Given the description of an element on the screen output the (x, y) to click on. 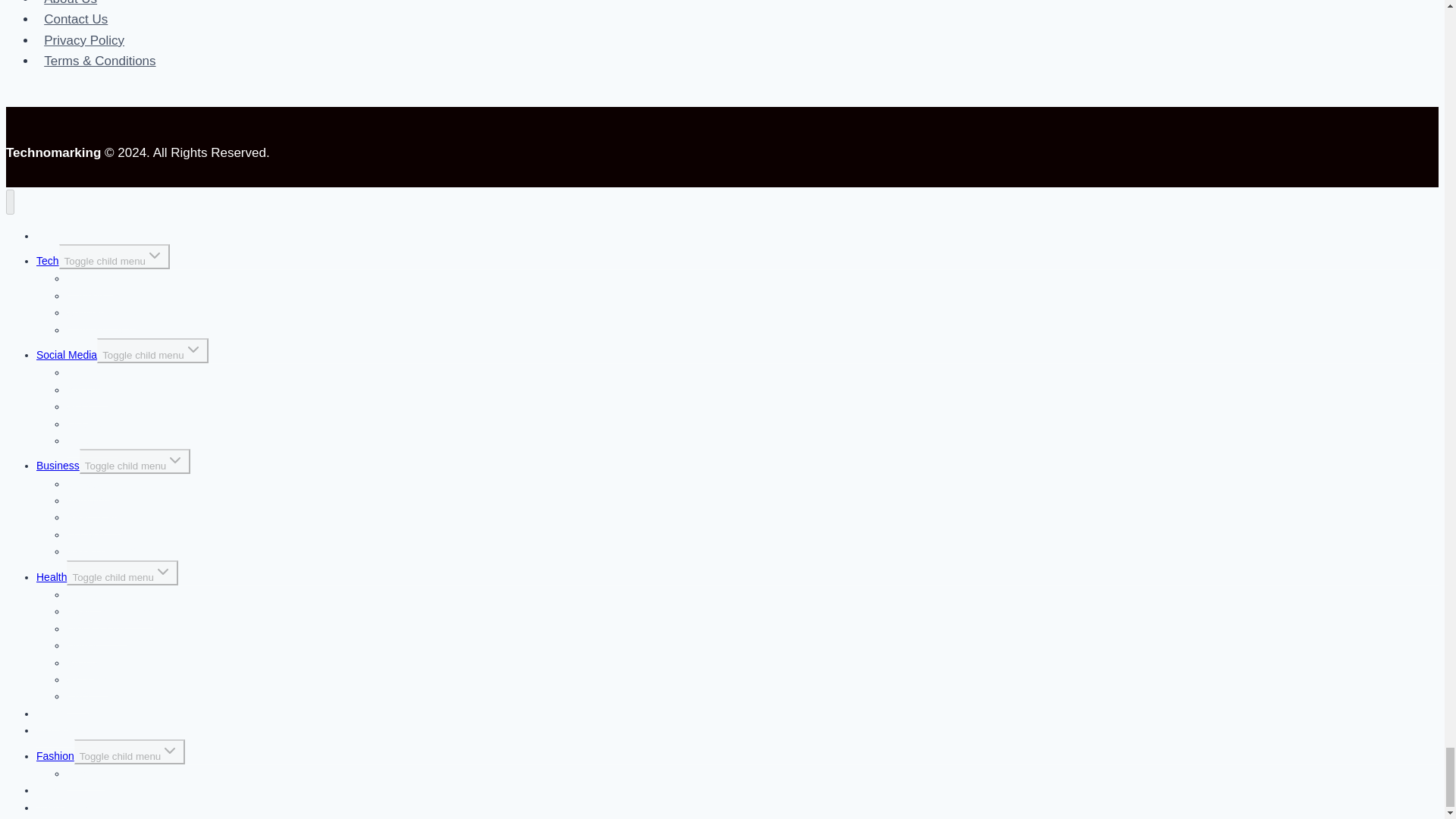
Expand (174, 460)
Expand (193, 349)
Expand (154, 255)
Expand (162, 571)
